Given the description of an element on the screen output the (x, y) to click on. 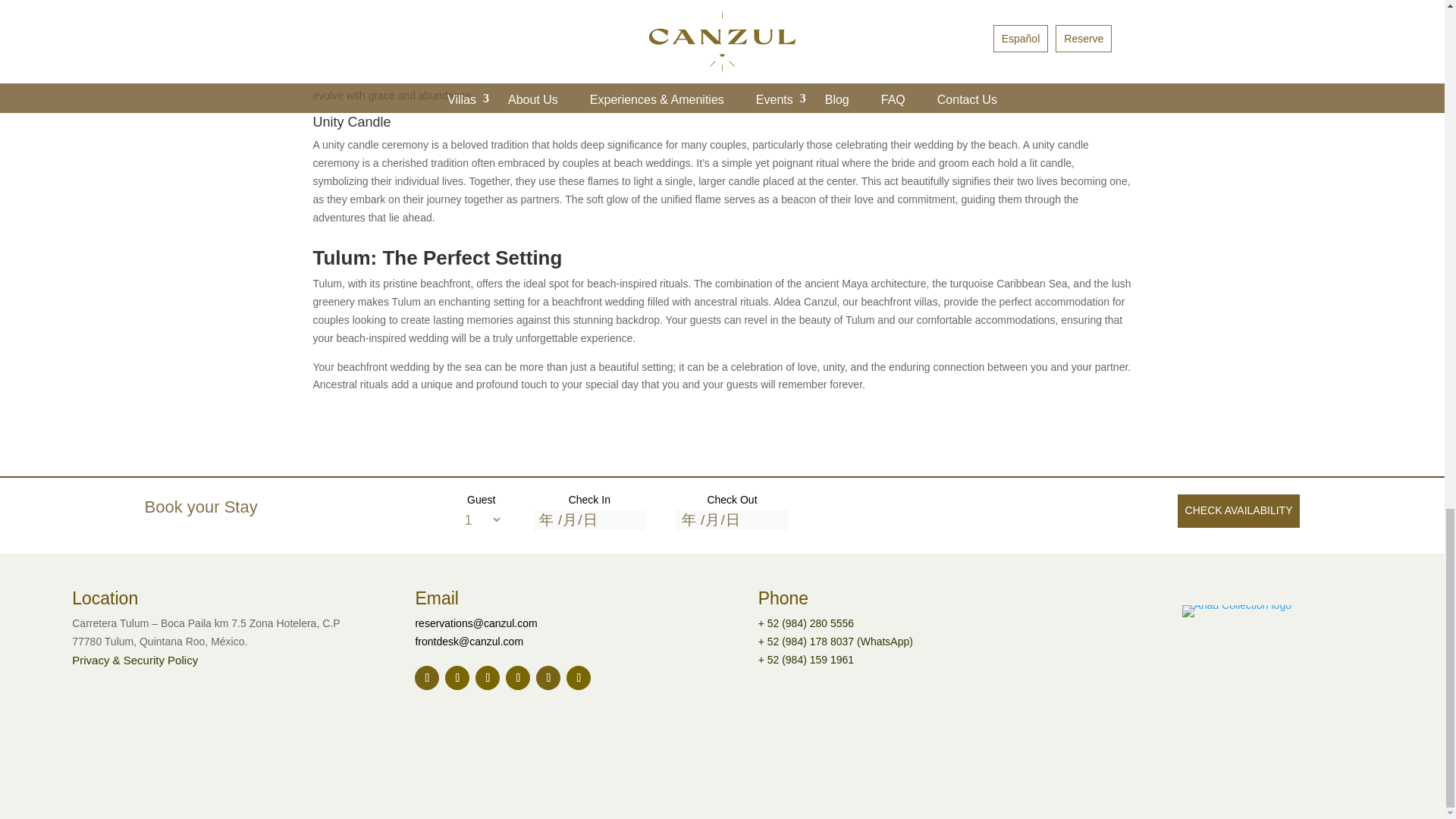
Ahau Collection logo (1236, 611)
Follow on TikTok (547, 677)
Follow on Youtube (578, 677)
Follow on TripAdvisor (517, 677)
Follow on Facebook (456, 677)
Follow on Google (426, 677)
Follow on Instagram (487, 677)
